Given the description of an element on the screen output the (x, y) to click on. 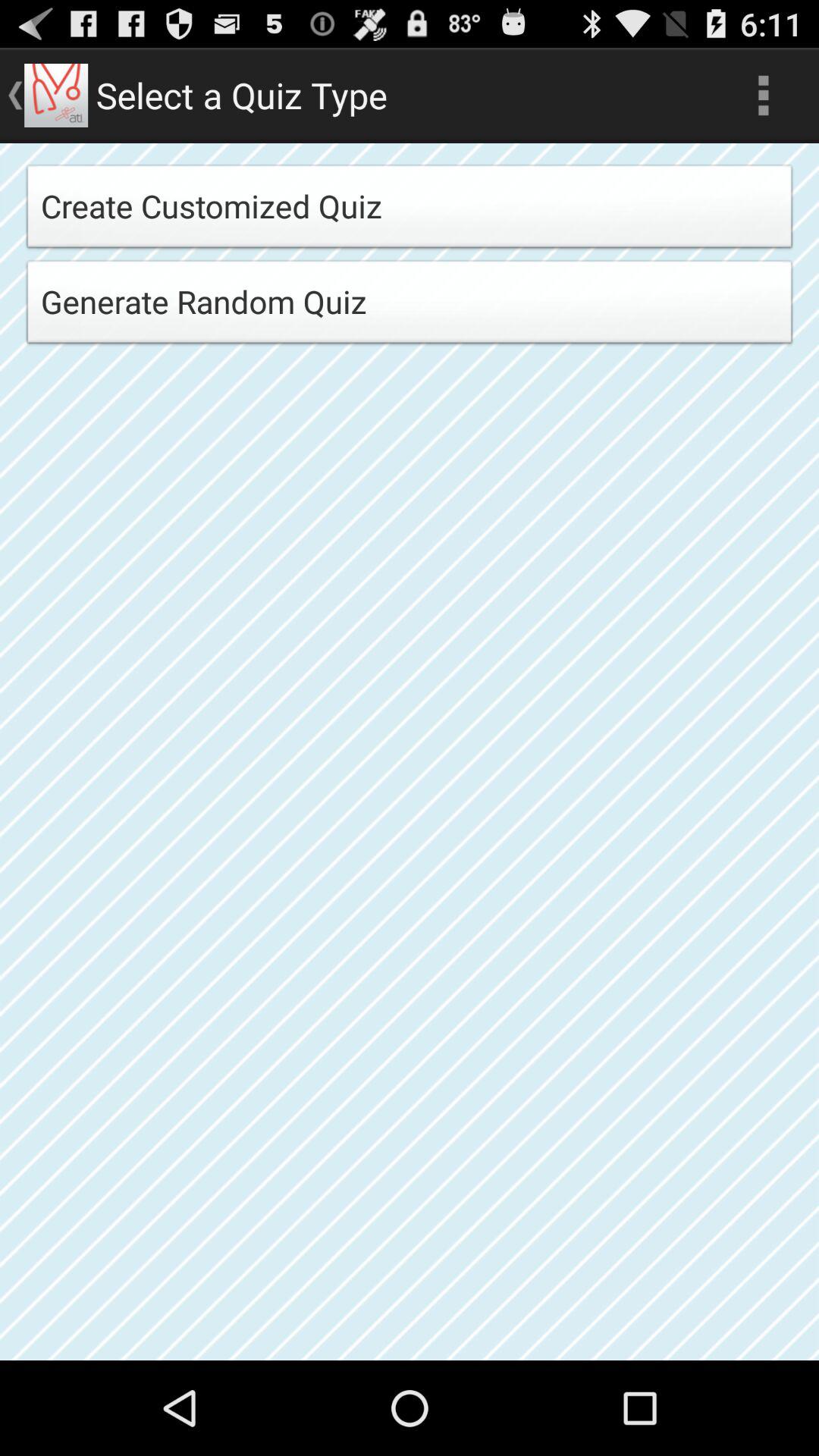
flip to the create customized quiz item (409, 210)
